Given the description of an element on the screen output the (x, y) to click on. 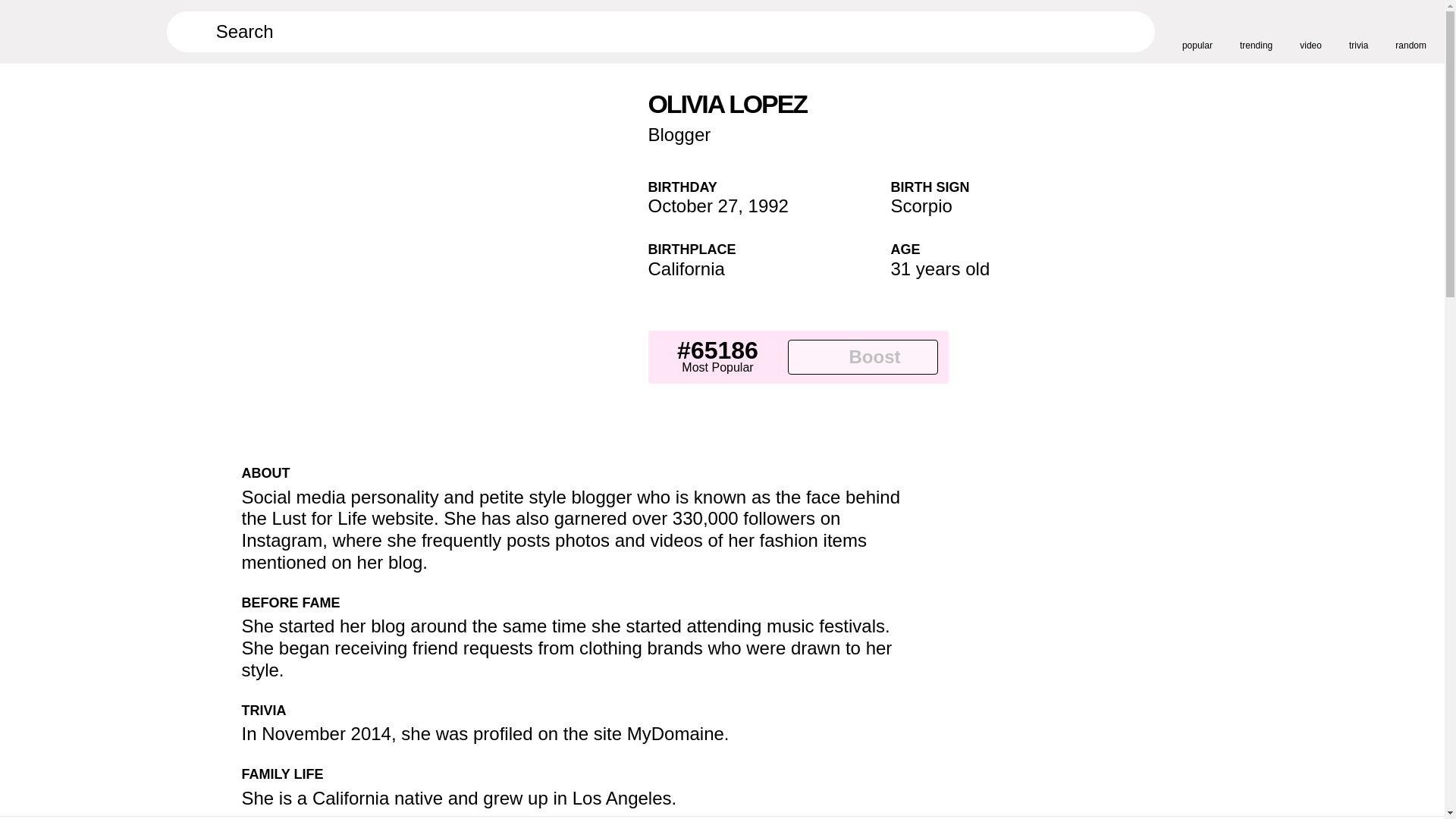
Blogger (678, 134)
Boost (862, 356)
October 27 (692, 205)
1992 (768, 205)
California (685, 268)
31 years old (939, 268)
Scorpio (920, 205)
